Given the description of an element on the screen output the (x, y) to click on. 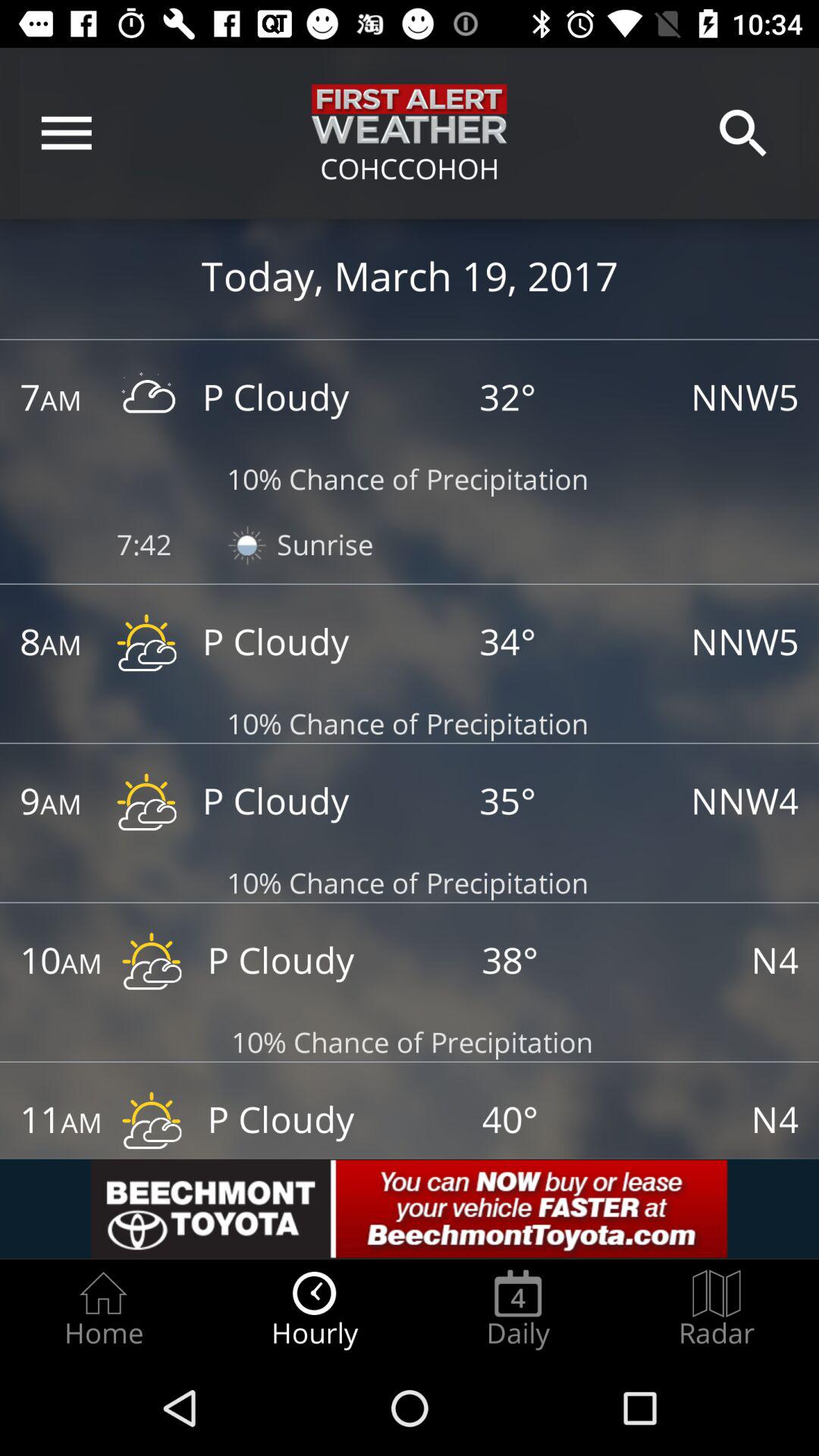
change time (44, 1122)
